Given the description of an element on the screen output the (x, y) to click on. 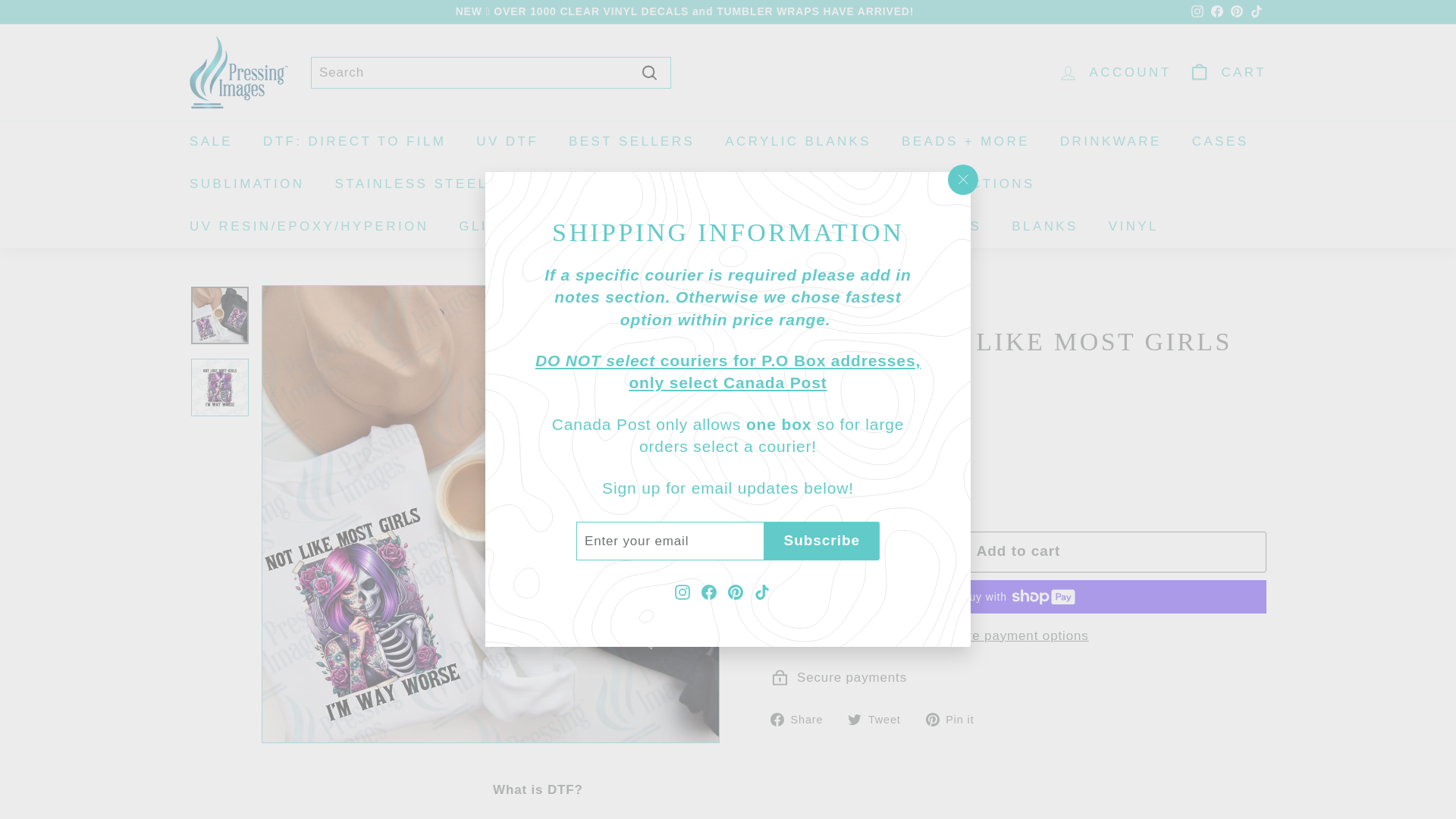
instagram (1197, 10)
VINYL (1133, 226)
STAINLESS STEEL (410, 183)
DRINKWARE (1110, 141)
DTF: DIRECT TO FILM (354, 141)
Share on Facebook (802, 719)
UV DTF (507, 141)
Pressing Images on Pinterest (735, 591)
ACCESSORIES (919, 226)
ACRYLIC BLANKS (798, 141)
SUBLIMATION (246, 183)
Pressing Images on TikTok (762, 591)
CASES (1219, 141)
BEST SELLERS (631, 141)
GLITTER (495, 226)
